Given the description of an element on the screen output the (x, y) to click on. 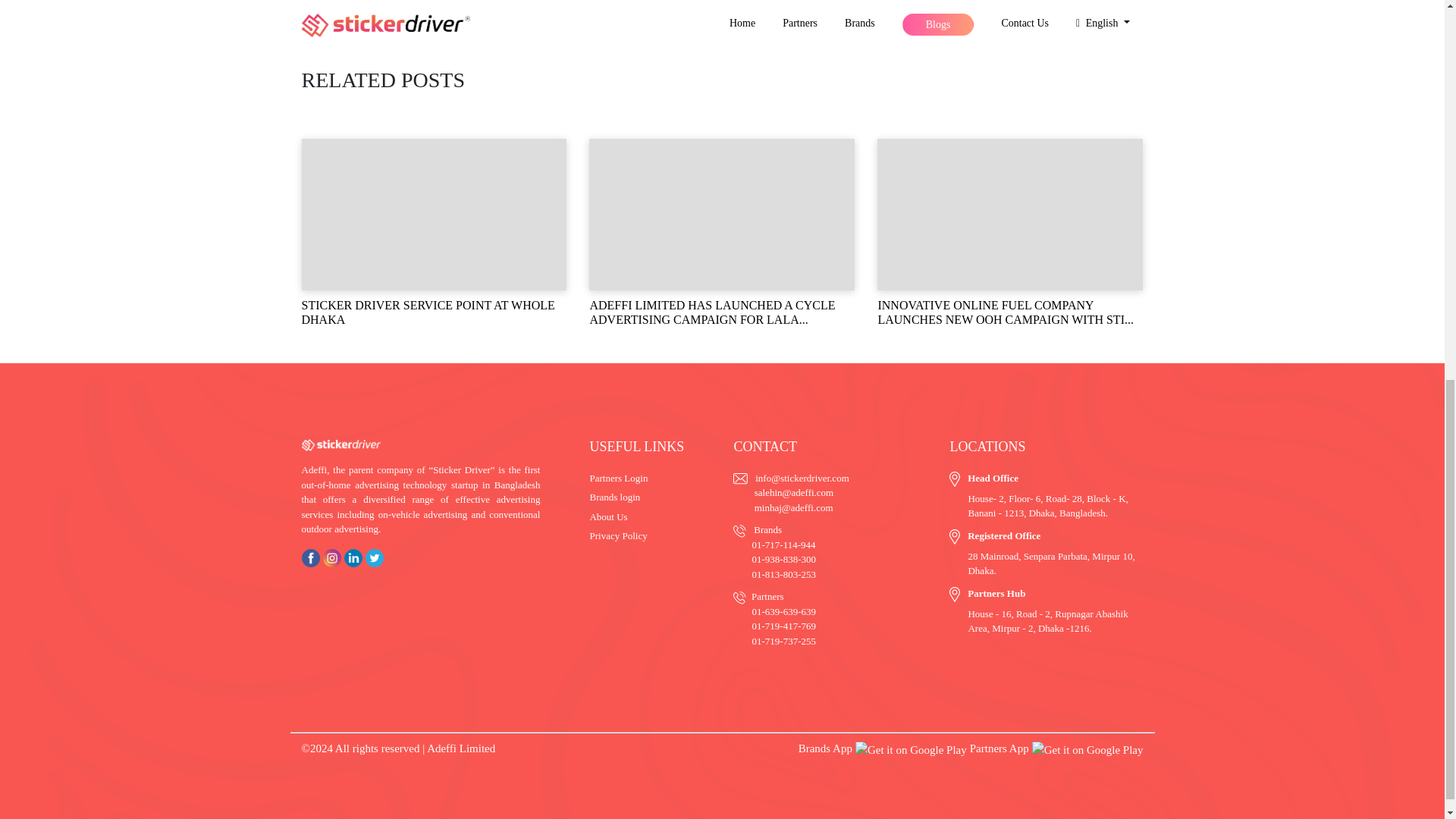
01-813-803-253 (783, 573)
STICKER DRIVER SERVICE POINT AT WHOLE DHAKA (434, 232)
01-639-639-639 (783, 611)
Brands App (881, 748)
01-719-737-255 (783, 641)
Partners App (1055, 748)
Brands login (614, 496)
